Given the description of an element on the screen output the (x, y) to click on. 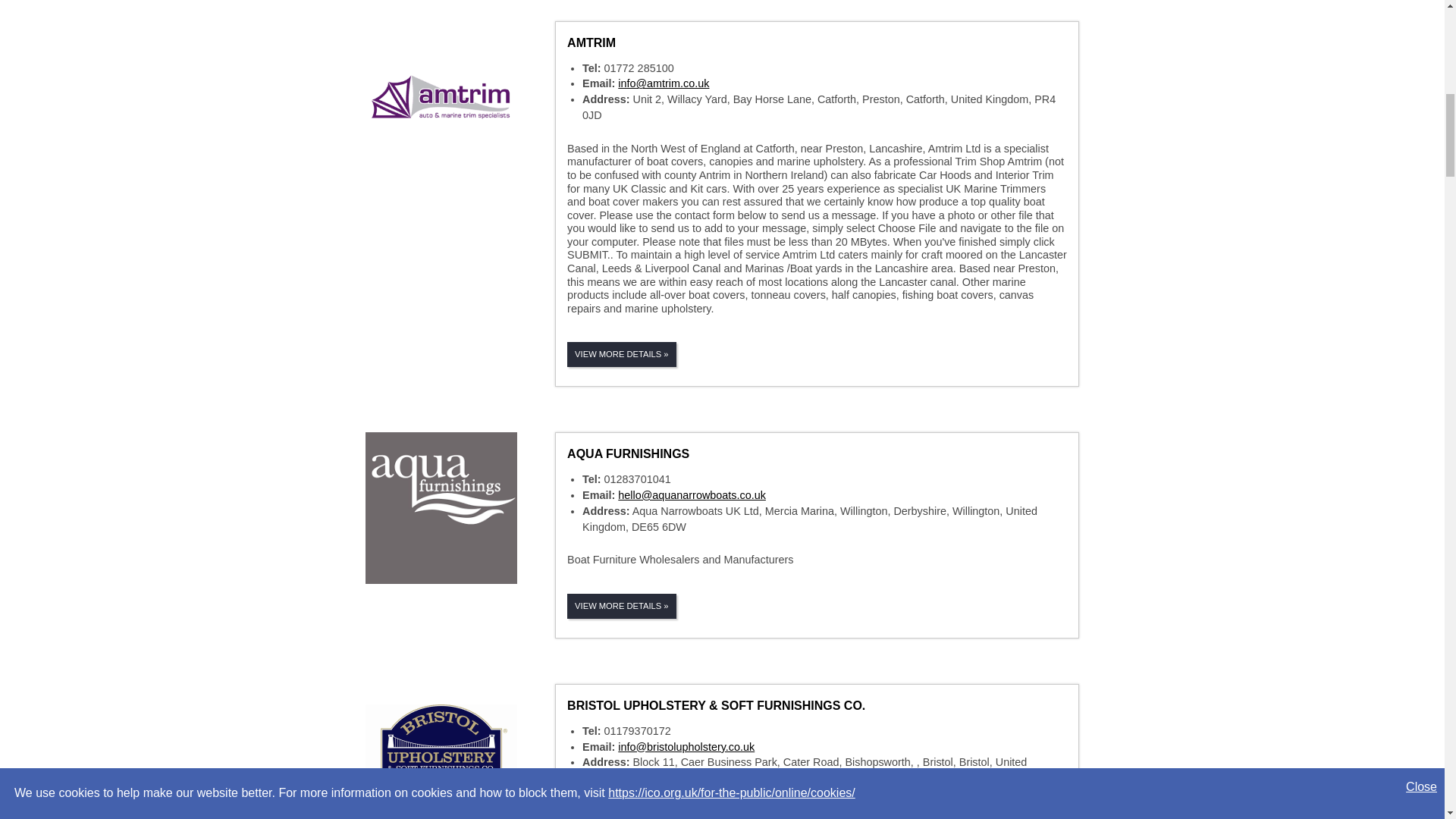
View Amtrim (622, 354)
AMTRIM (591, 42)
AQUA FURNISHINGS (627, 453)
View Aqua Furnishings (627, 453)
View Amtrim (591, 42)
